Given the description of an element on the screen output the (x, y) to click on. 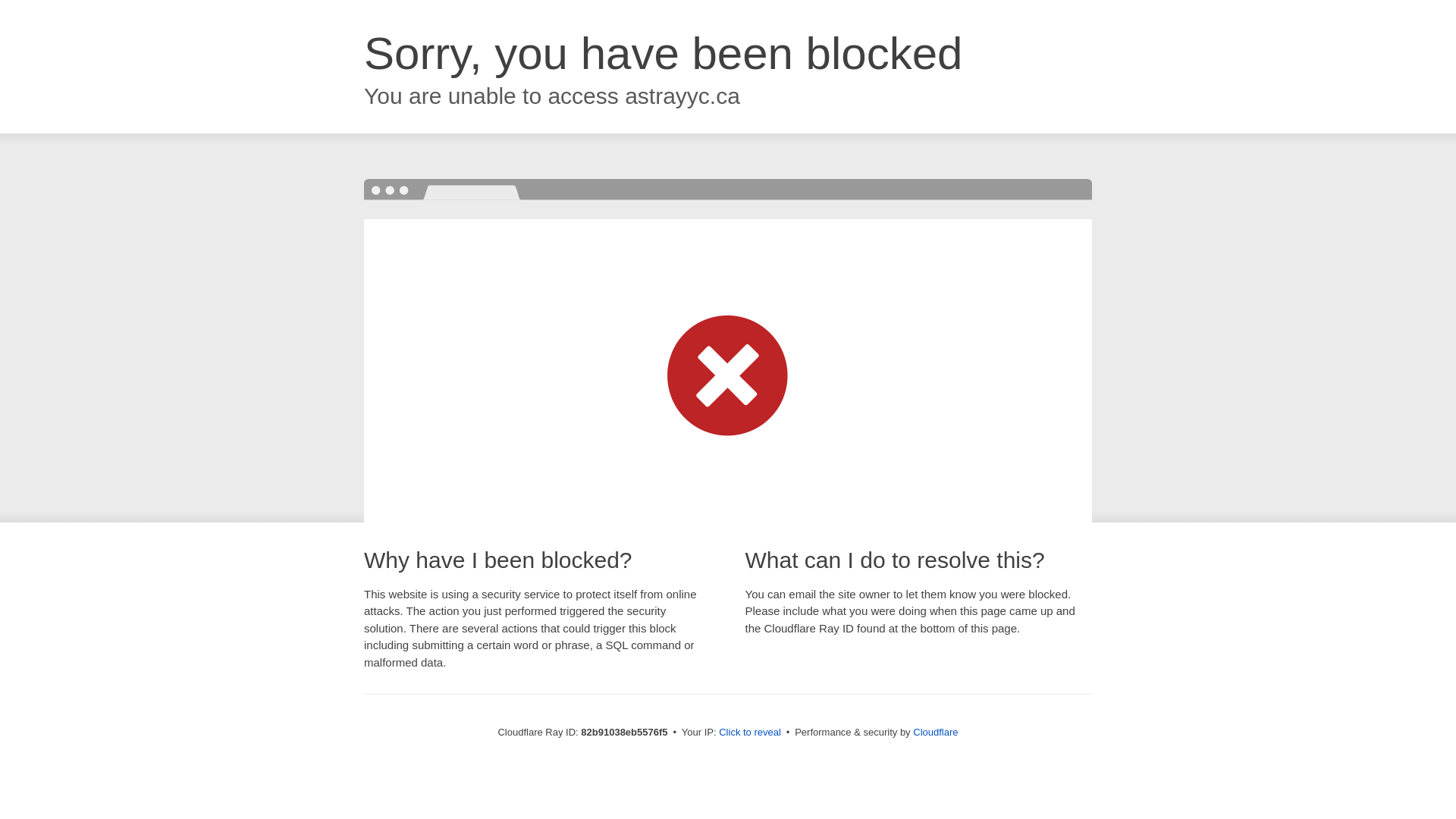
Click to reveal Element type: text (749, 732)
Cloudflare Element type: text (935, 731)
